Given the description of an element on the screen output the (x, y) to click on. 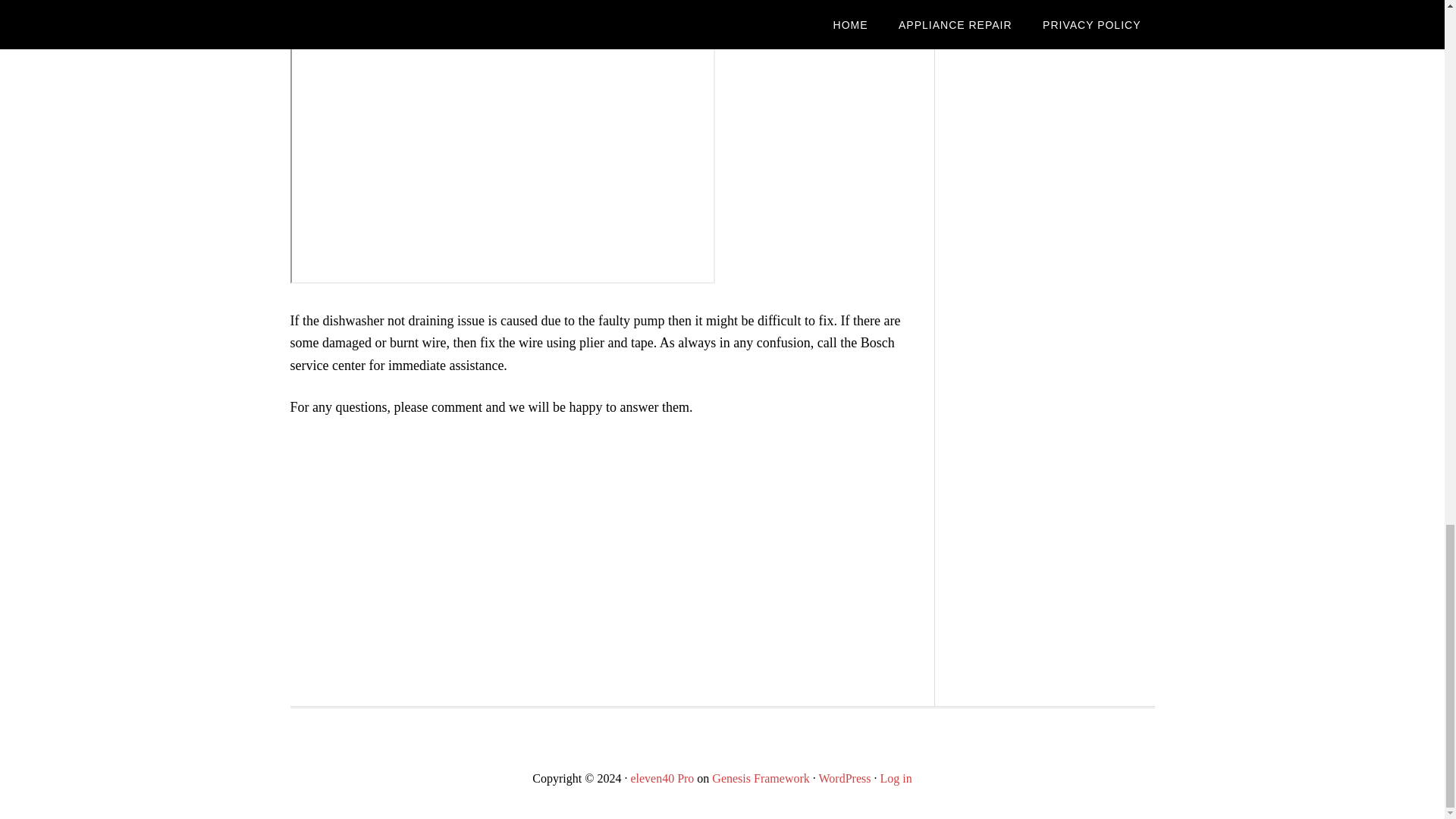
WordPress (844, 778)
Genesis Framework (760, 778)
eleven40 Pro (662, 778)
Log in (895, 778)
